Given the description of an element on the screen output the (x, y) to click on. 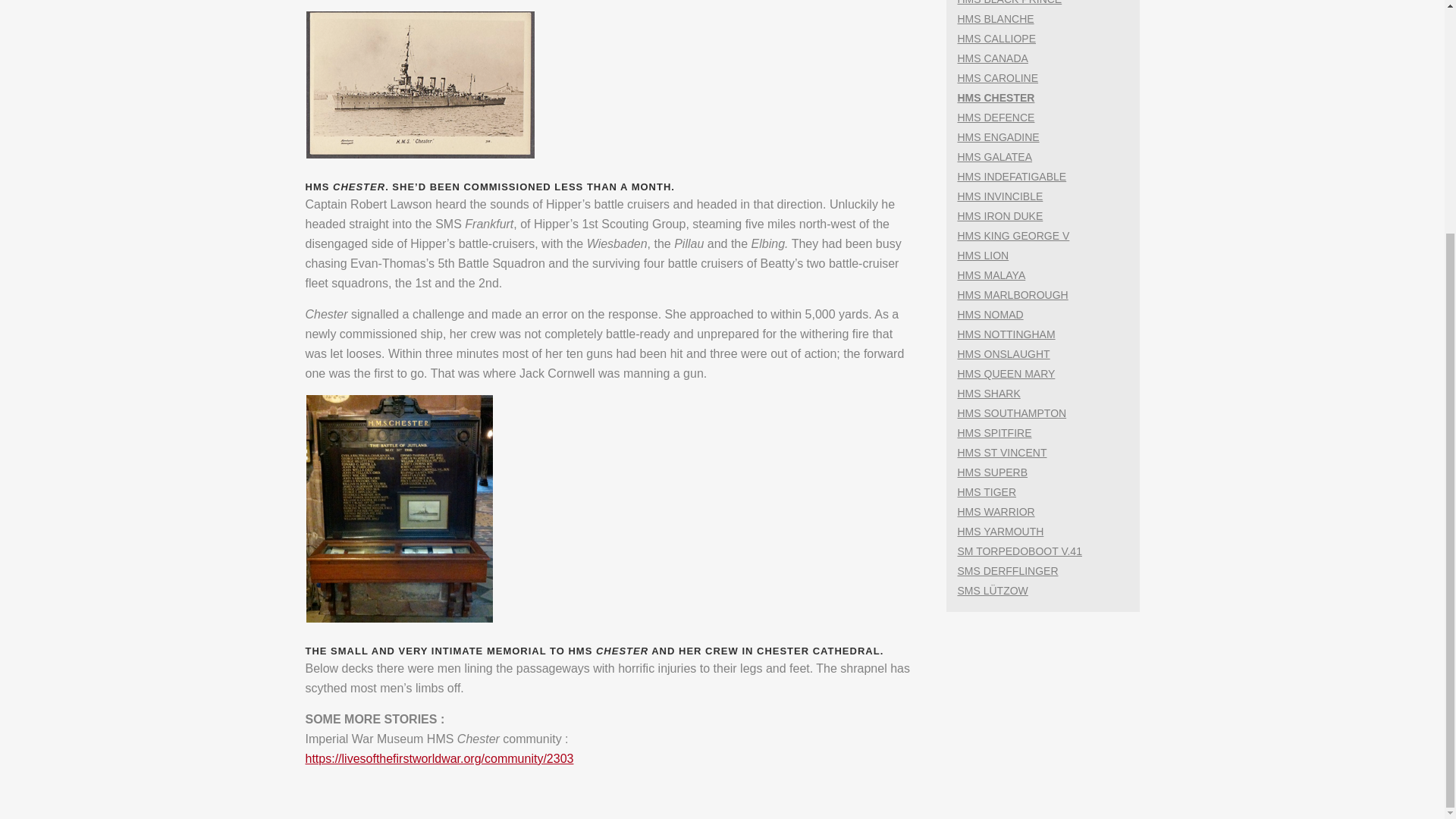
HMS CALLIOPE (995, 38)
HMS BLACK PRINCE (1008, 2)
HMS BLANCHE (994, 19)
